Given the description of an element on the screen output the (x, y) to click on. 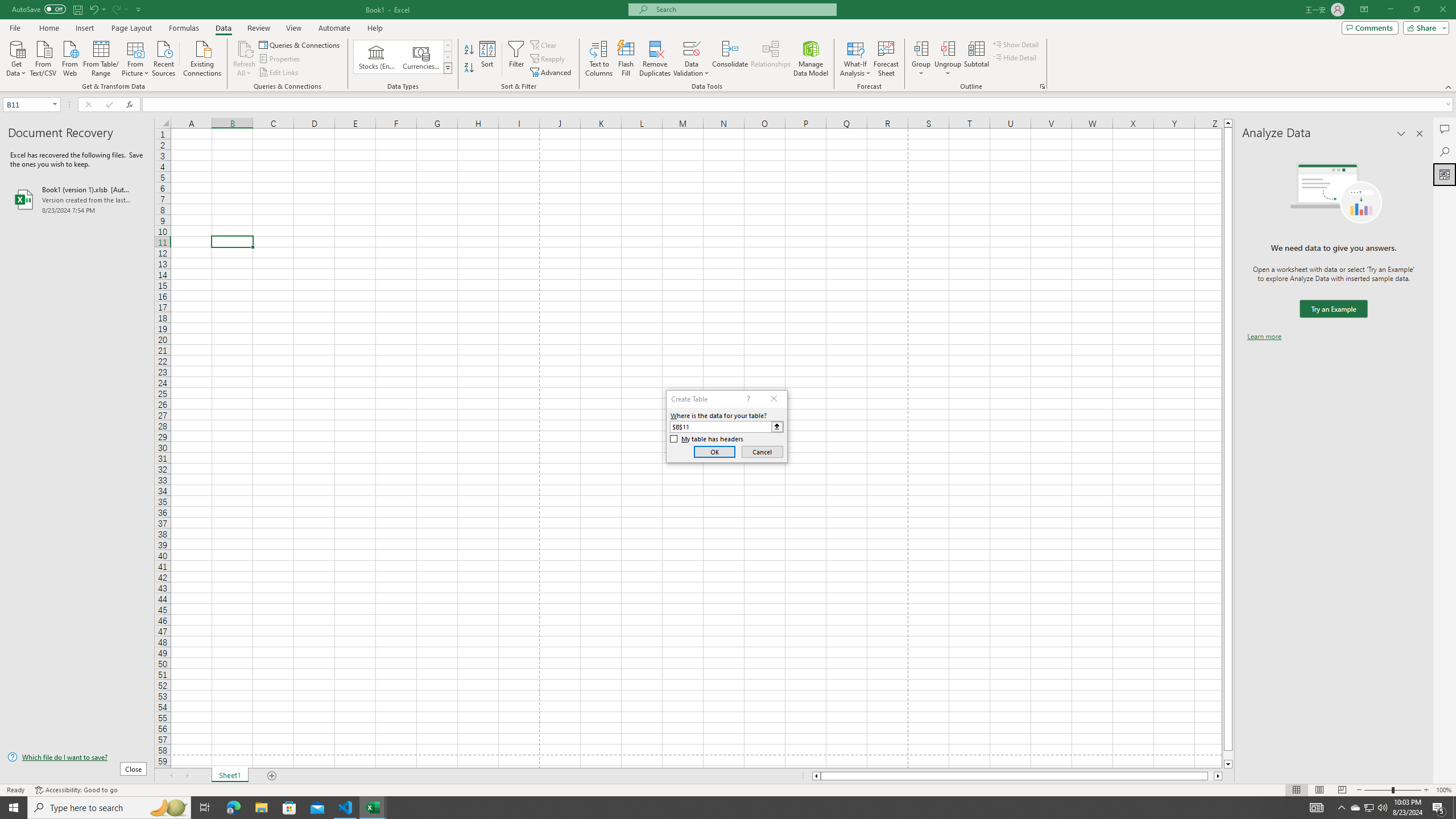
Sort Z to A (469, 67)
Consolidate... (729, 58)
Remove Duplicates (654, 58)
Properties (280, 58)
Recent Sources (163, 57)
What-If Analysis (855, 58)
Filter (515, 58)
